Given the description of an element on the screen output the (x, y) to click on. 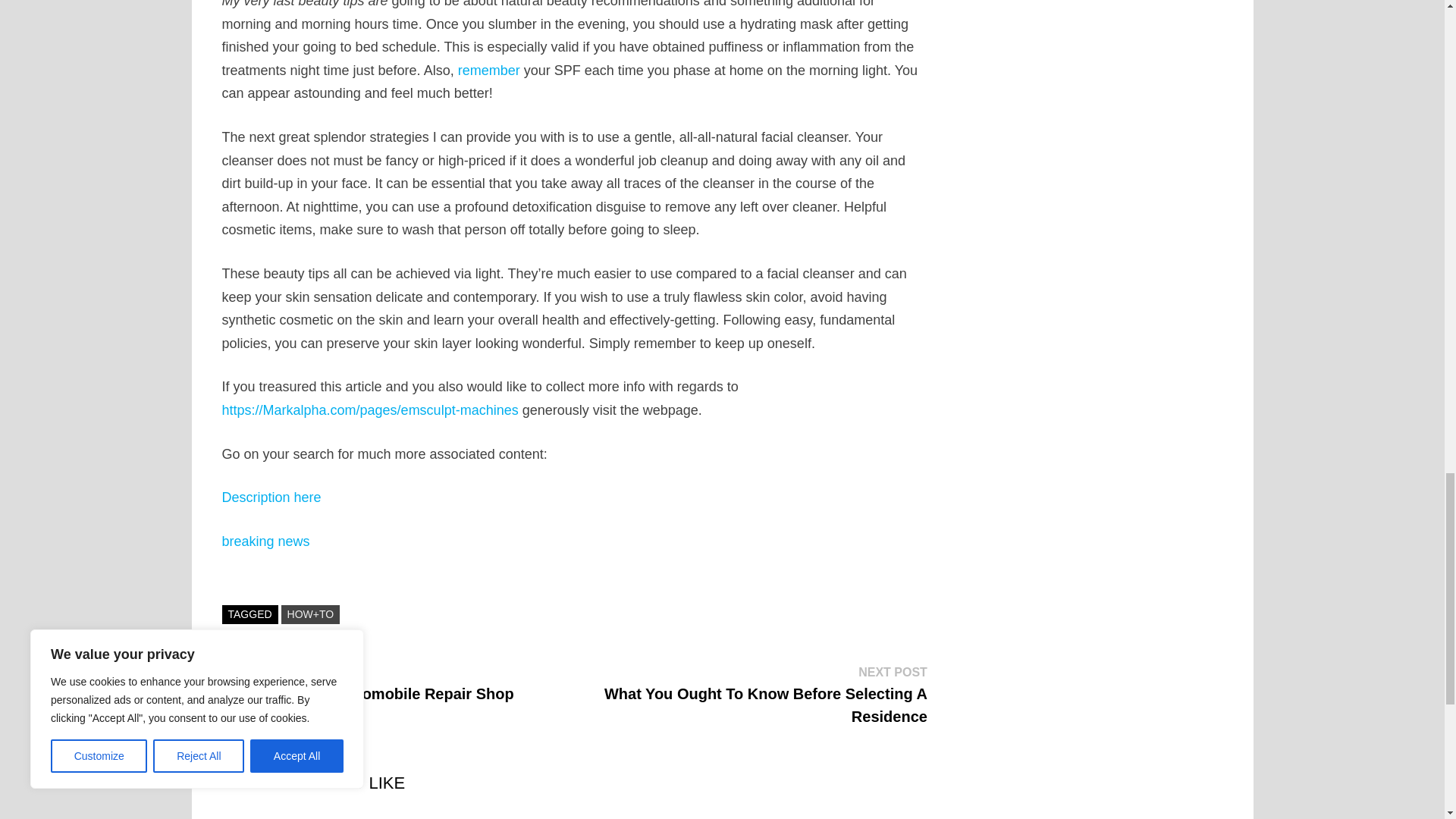
remember (488, 70)
Description here (270, 497)
breaking news (264, 540)
